Given the description of an element on the screen output the (x, y) to click on. 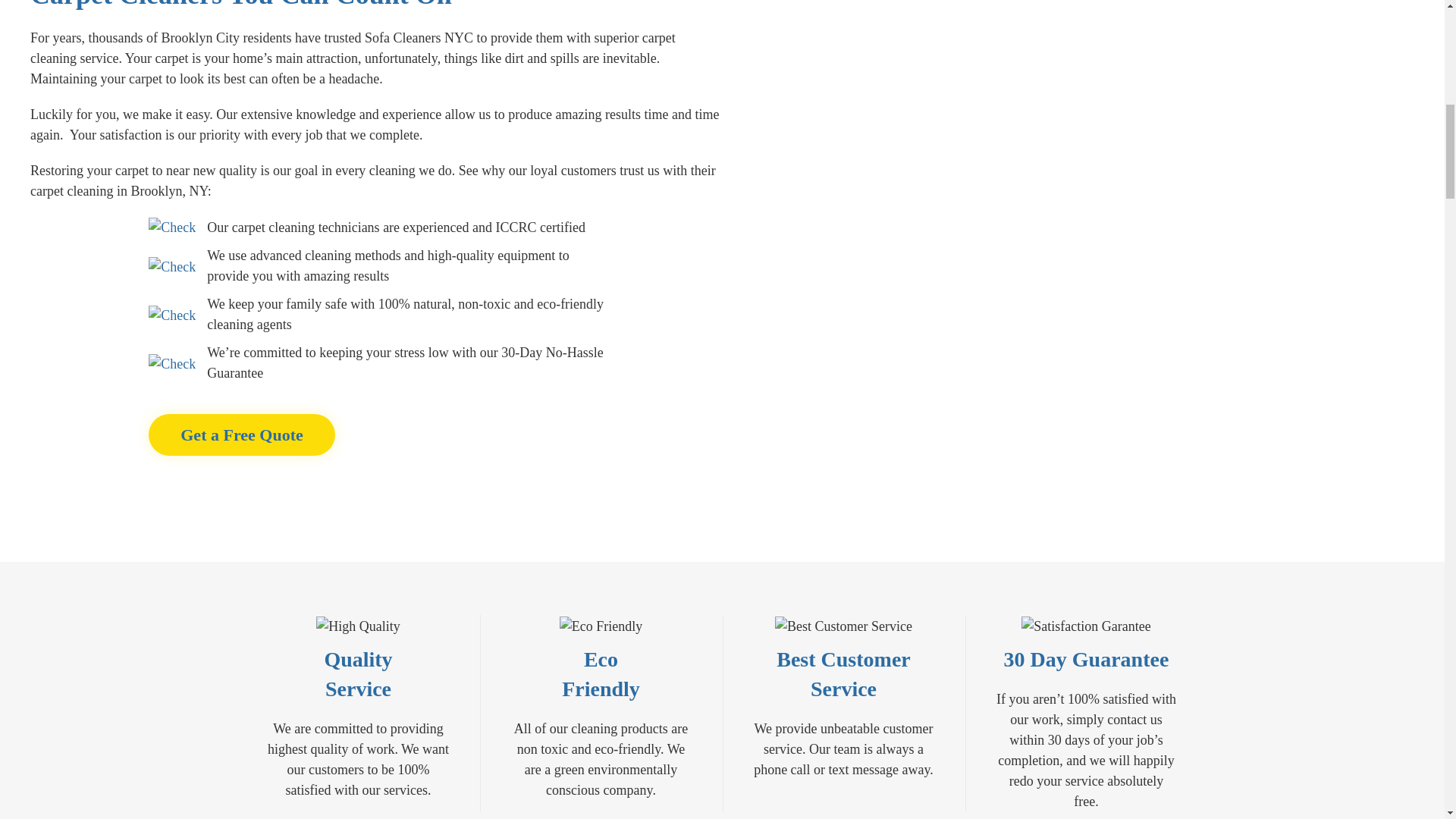
Get a Free Quote (241, 434)
Contact Us (241, 434)
